Given the description of an element on the screen output the (x, y) to click on. 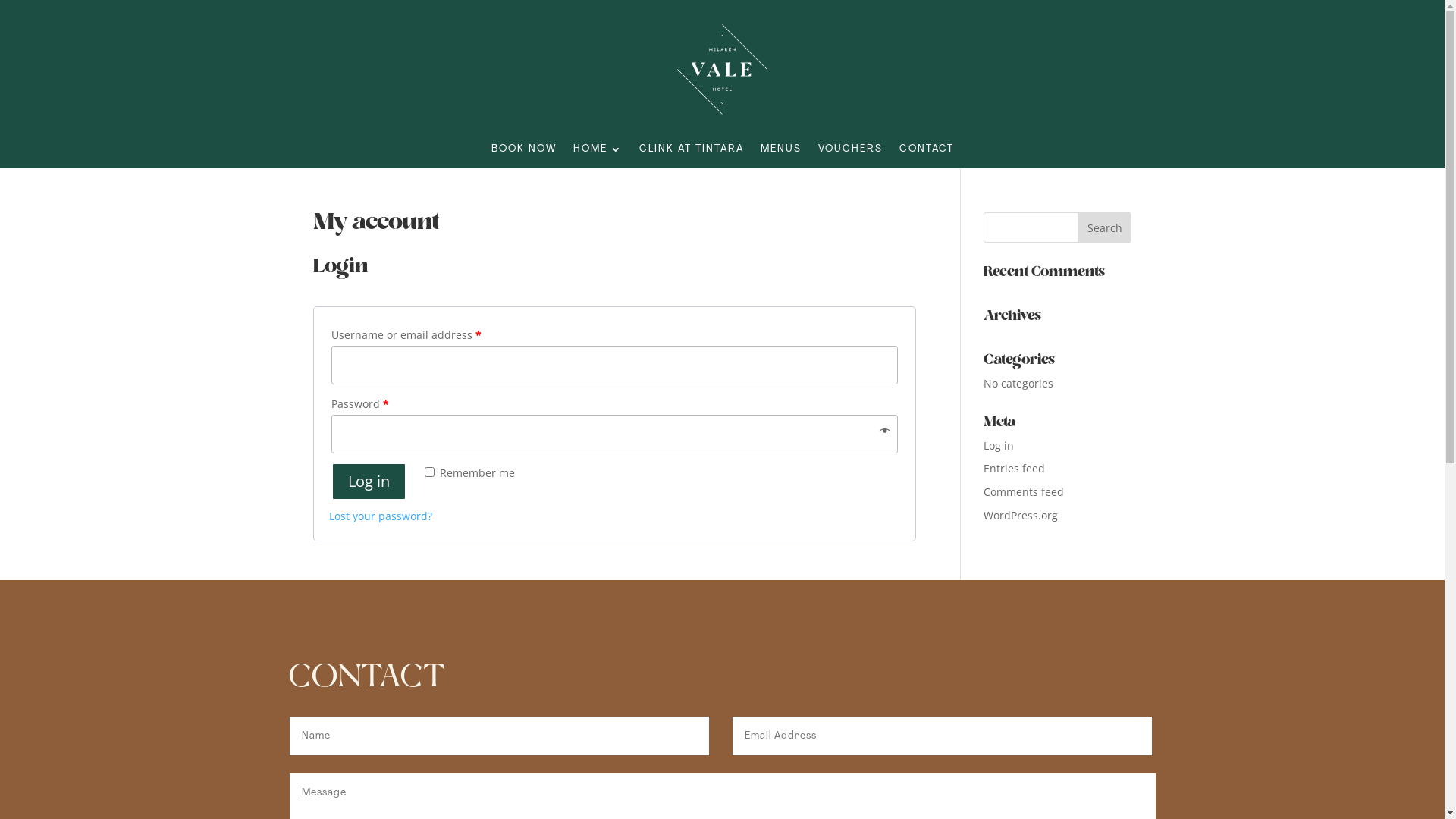
CONTACT Element type: text (926, 152)
Lost your password? Element type: text (380, 515)
Entries feed Element type: text (1013, 468)
HOME Element type: text (597, 152)
Log in Element type: text (367, 481)
WordPress.org Element type: text (1020, 515)
mclaren-vale-logo-white Element type: hover (722, 69)
CLINK AT TINTARA Element type: text (690, 152)
Comments feed Element type: text (1023, 491)
VOUCHERS Element type: text (849, 152)
Log in Element type: text (998, 445)
BOOK NOW Element type: text (523, 152)
MENUS Element type: text (779, 152)
Search Element type: text (1104, 227)
